Given the description of an element on the screen output the (x, y) to click on. 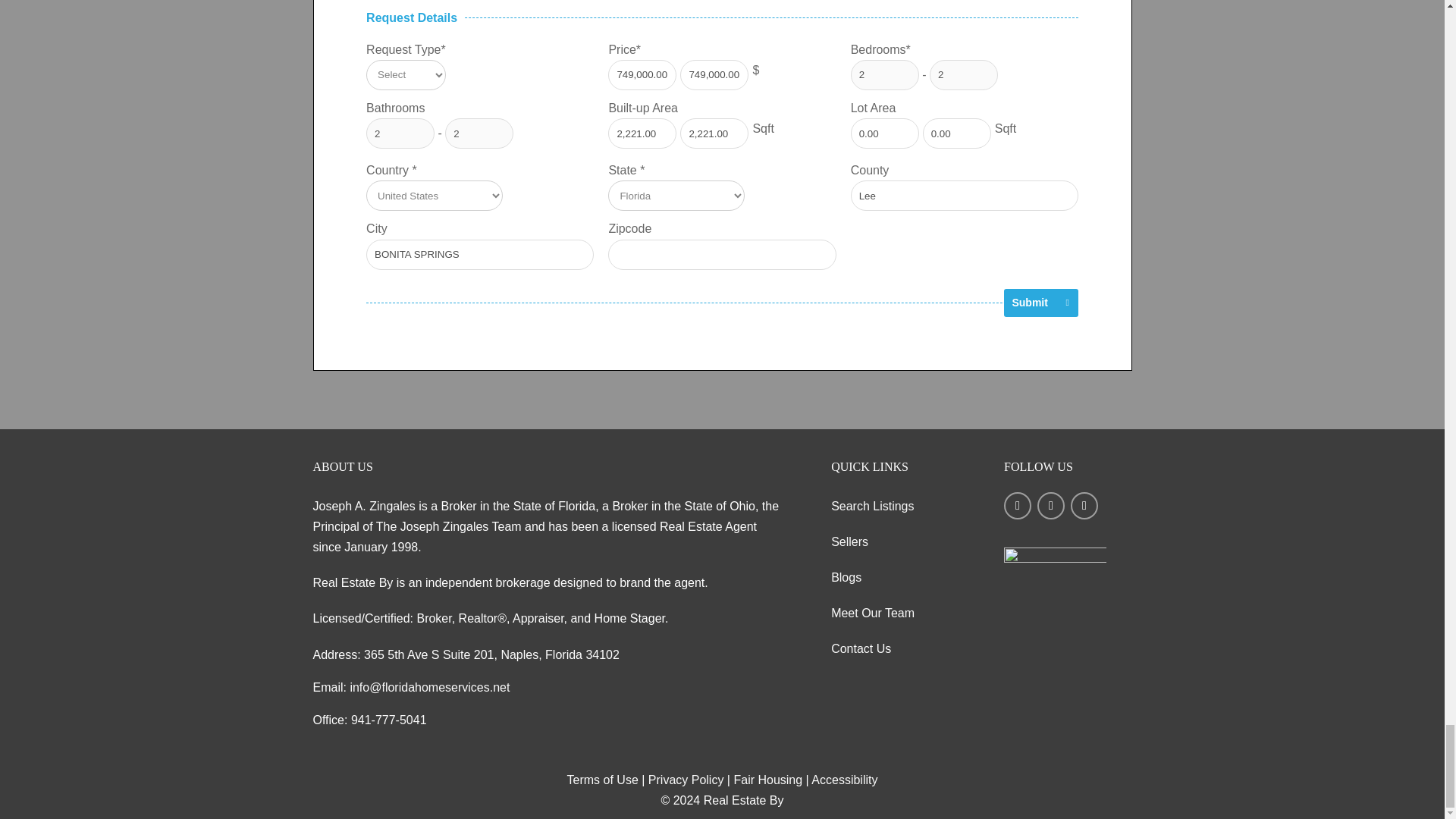
749,000.00 (642, 74)
2 (963, 74)
FOLLOW US (1067, 515)
2 (884, 74)
749,000.00 (713, 74)
